Given the description of an element on the screen output the (x, y) to click on. 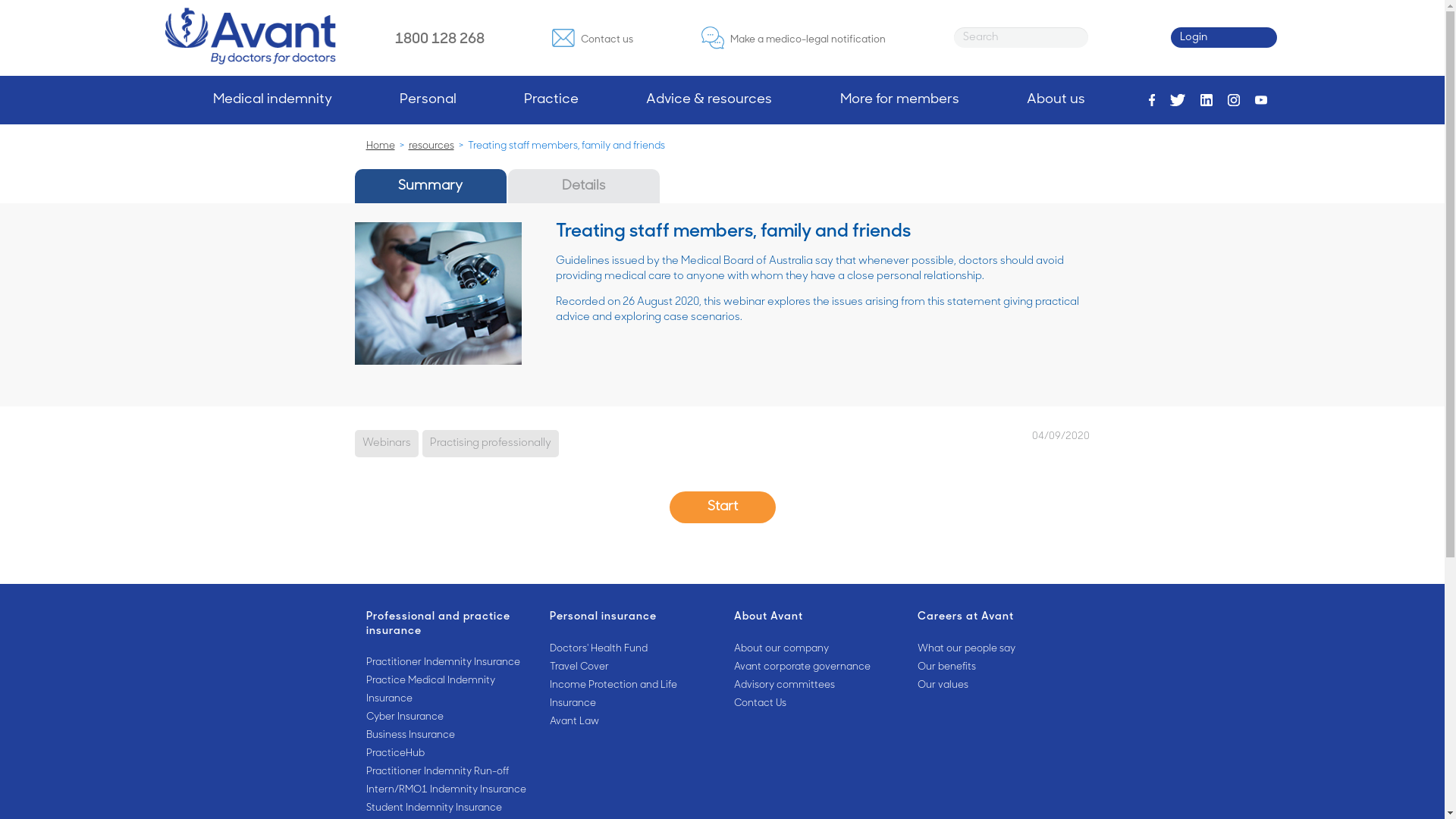
Doctors' Health Fund Element type: text (630, 649)
More for members Element type: text (899, 99)
PracticeHub Element type: text (446, 753)
Login Element type: text (1223, 37)
Professional and practice insurance Element type: text (446, 624)
linkedin.com/company/avant-mutual-group-limited Element type: hover (1206, 100)
Personal Element type: text (427, 99)
Cyber Insurance Element type: text (446, 717)
Practice Medical Indemnity Insurance Element type: text (446, 689)
About our company Element type: text (814, 649)
Practitioner Indemnity Run-off Element type: text (446, 771)
Advisory committees Element type: text (814, 685)
Careers at Avant Element type: text (998, 617)
Avant - Mutual Group Element type: text (250, 35)
Our benefits Element type: text (998, 667)
Student Indemnity Insurance Element type: text (446, 808)
1800 128 268 Element type: text (438, 37)
Practice Element type: text (550, 99)
About Avant Element type: text (814, 617)
Our values Element type: text (998, 685)
resources Element type: text (430, 145)
Contact us Element type: text (592, 37)
Home Element type: text (379, 145)
Avant corporate governance Element type: text (814, 667)
Intern/RMO1 Indemnity Insurance Element type: text (446, 790)
Travel Cover Element type: text (630, 667)
Medical indemnity Element type: text (272, 99)
What our people say Element type: text (998, 649)
Business Insurance Element type: text (446, 735)
instagram.com/avantmutual Element type: hover (1233, 100)
Make a medico-legal notification Element type: text (793, 37)
Advice & resources Element type: text (708, 99)
twitter.com/avantmutual Element type: hover (1177, 100)
Income Protection and Life Insurance Element type: text (630, 694)
Contact Us Element type: text (814, 703)
Avant Law Element type: text (630, 721)
Summary Element type: text (430, 186)
Start Element type: text (721, 507)
Personal insurance Element type: text (630, 617)
Practitioner Indemnity Insurance Element type: text (446, 662)
facebook.com/avantmutual Element type: hover (1151, 100)
Details Element type: text (583, 186)
youtube.com - Avant Mutual Element type: hover (1261, 100)
About us Element type: text (1055, 99)
